Given the description of an element on the screen output the (x, y) to click on. 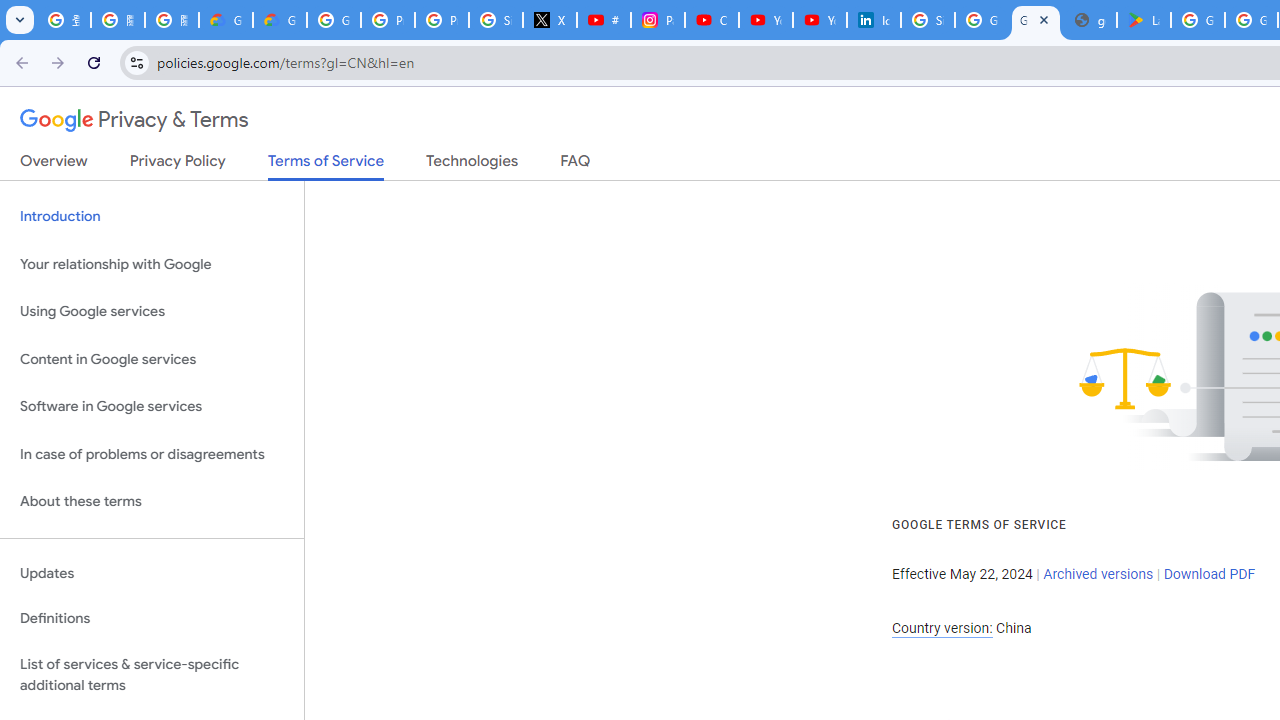
Google Cloud Privacy Notice (280, 20)
#nbabasketballhighlights - YouTube (604, 20)
Introduction (152, 216)
Using Google services (152, 312)
